Given the description of an element on the screen output the (x, y) to click on. 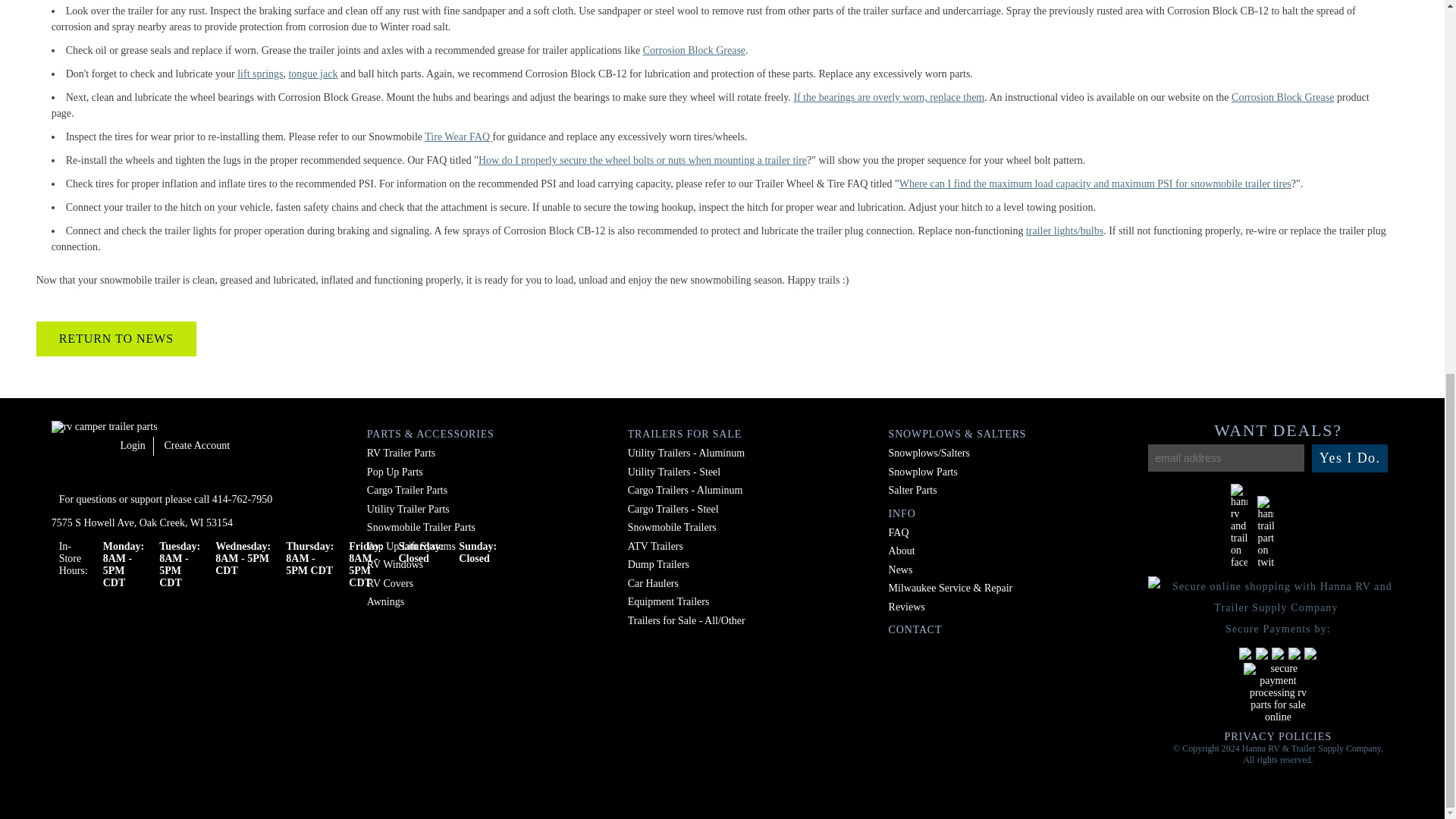
Yes I Do. (1350, 458)
